Given the description of an element on the screen output the (x, y) to click on. 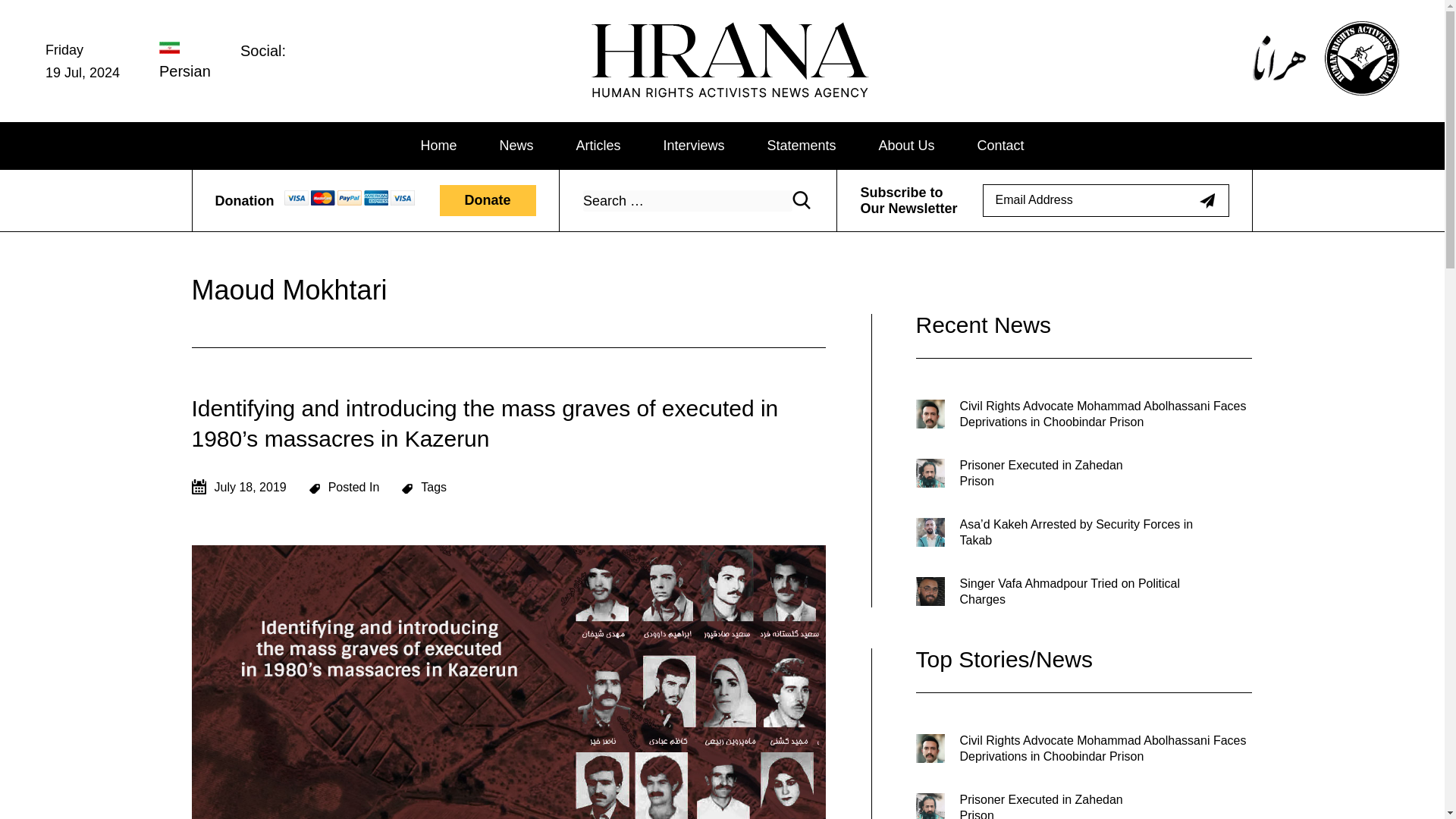
Home (437, 145)
Statements (801, 145)
Donate (487, 200)
Sign up (1207, 200)
July 18, 2019 (237, 486)
Search (801, 199)
Interviews (693, 145)
Sign up (1207, 200)
Articles (598, 145)
News (515, 145)
Search (801, 199)
About Us (906, 145)
Hrana (632, 104)
Contact (1000, 145)
Search (801, 199)
